Given the description of an element on the screen output the (x, y) to click on. 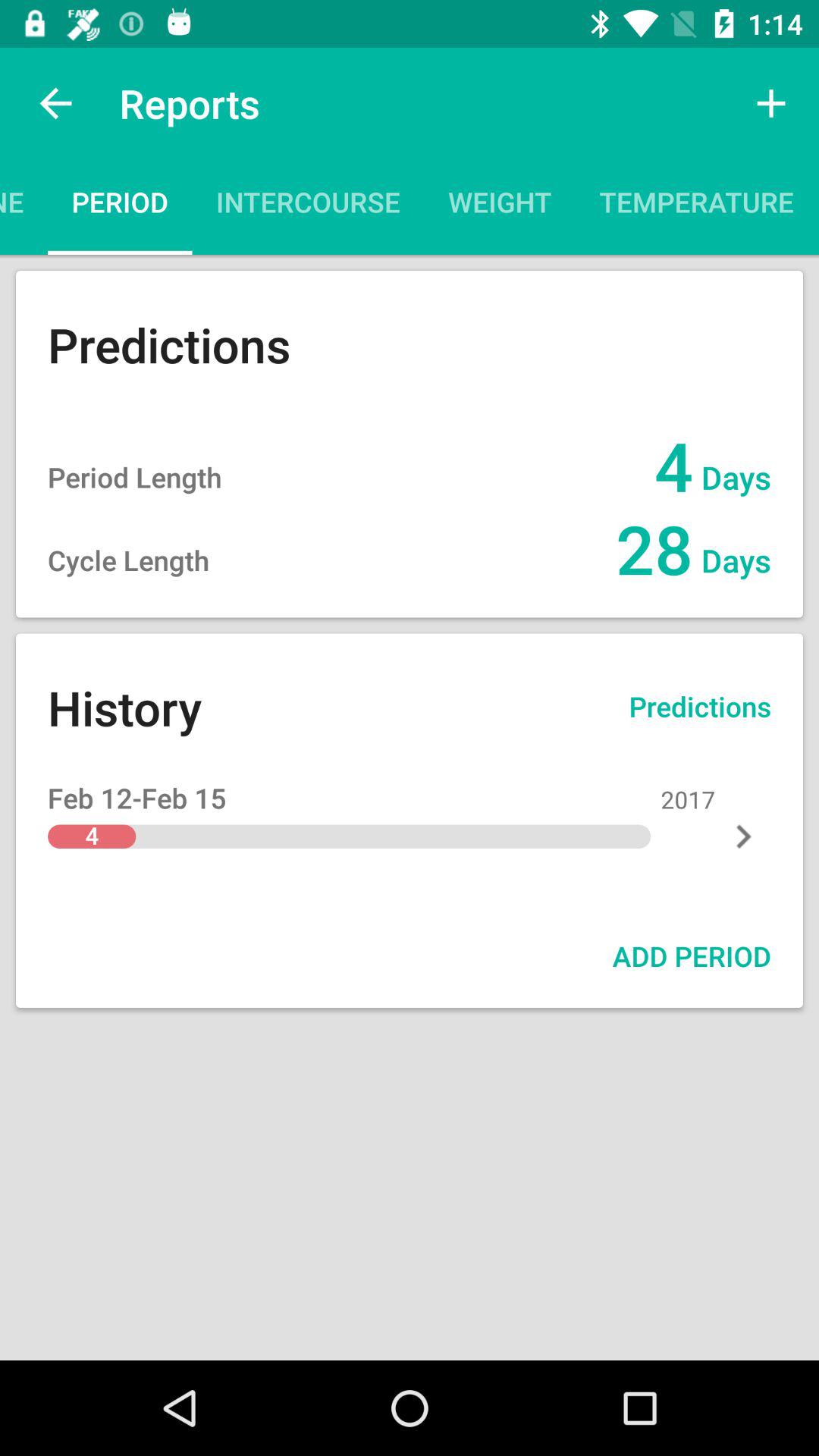
tap the intercourse item (308, 206)
